Given the description of an element on the screen output the (x, y) to click on. 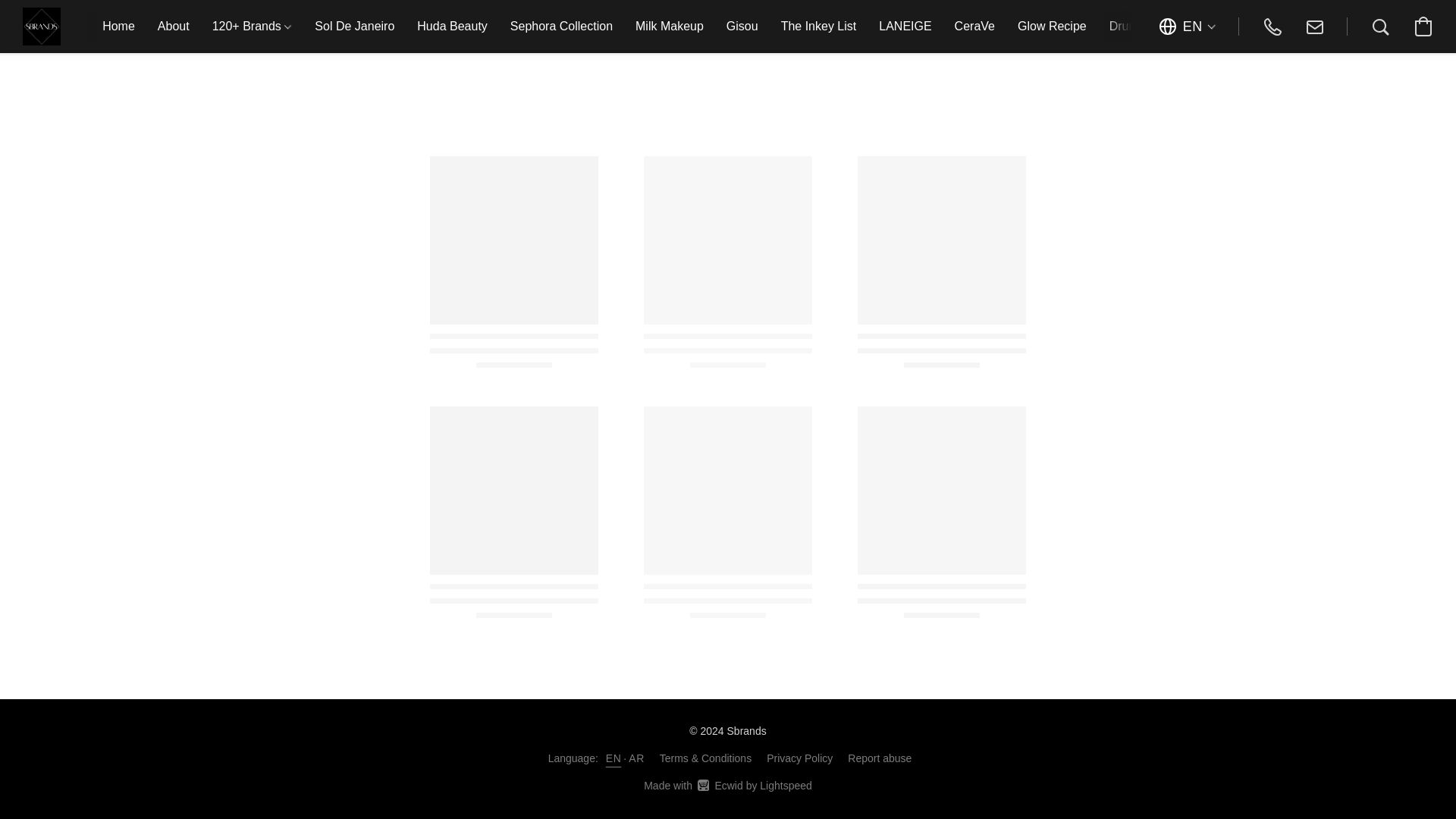
Report abuse (879, 758)
Drunk Elephant (1150, 26)
Home (118, 26)
Huda Beauty (452, 26)
LANEIGE (904, 26)
Gisou (742, 26)
Tarte Cosmetics (1259, 26)
Go to your shopping cart (1423, 25)
The Inkey List (818, 26)
Privacy Policy (799, 758)
